Given the description of an element on the screen output the (x, y) to click on. 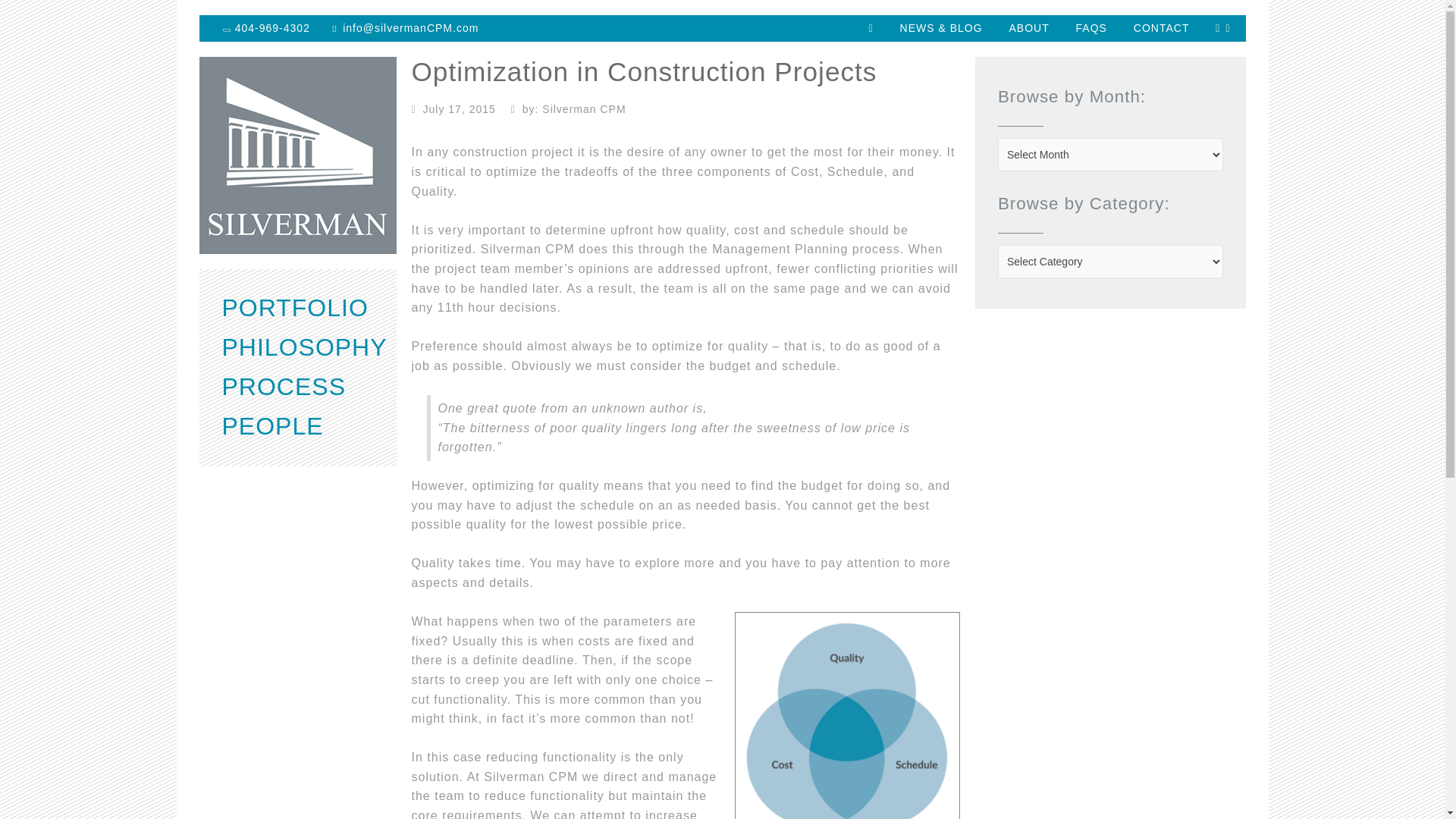
by: Silverman CPM (569, 109)
FAQS (1090, 28)
404-969-4302 (267, 28)
CONTACT (1161, 28)
PHILOSOPHY (304, 347)
PROCESS (283, 386)
PEOPLE (272, 425)
PORTFOLIO (294, 307)
ABOUT (1028, 28)
